Given the description of an element on the screen output the (x, y) to click on. 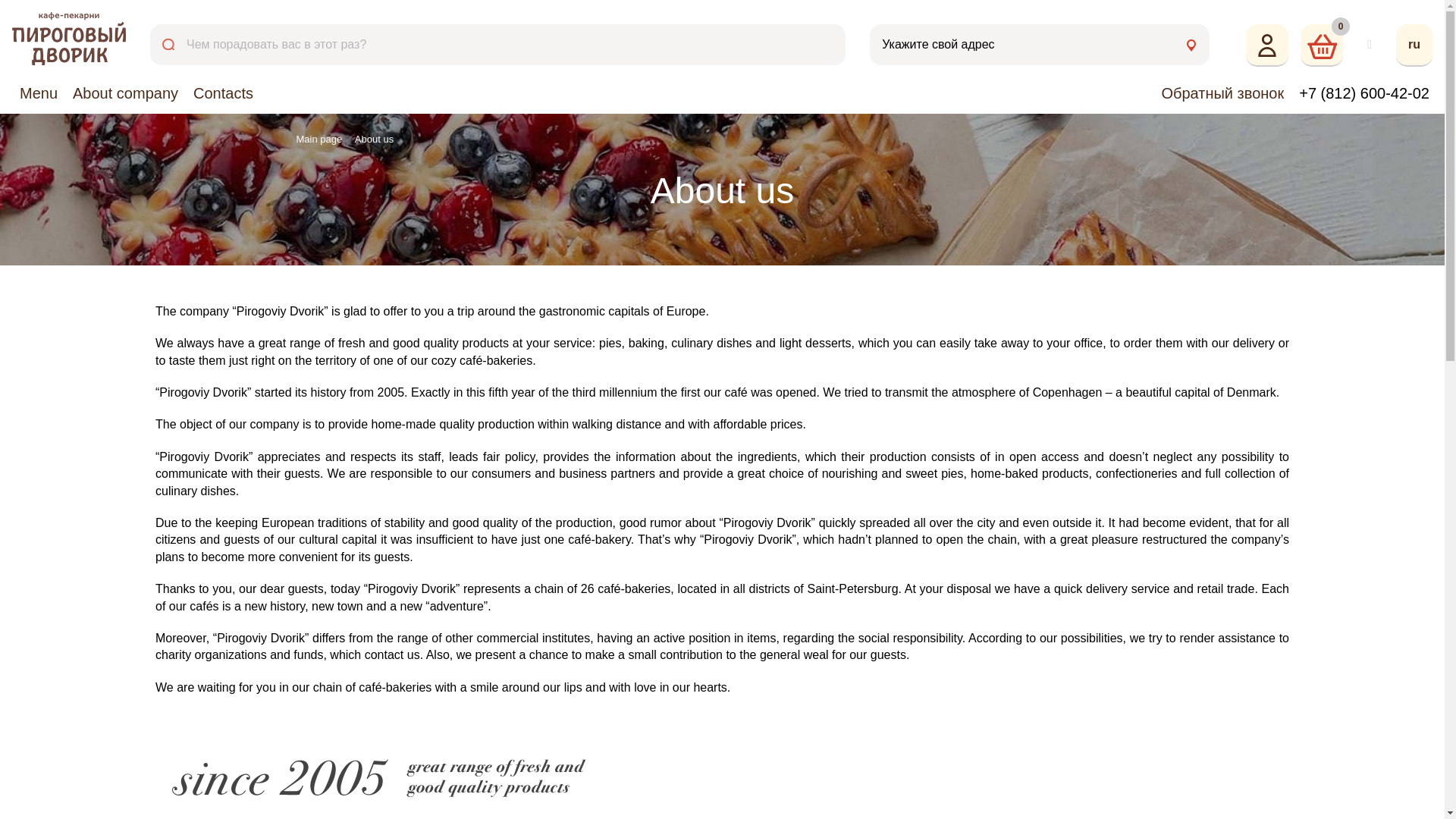
Menu (38, 97)
About company (125, 97)
Contacts (223, 97)
Main page (318, 139)
